Given the description of an element on the screen output the (x, y) to click on. 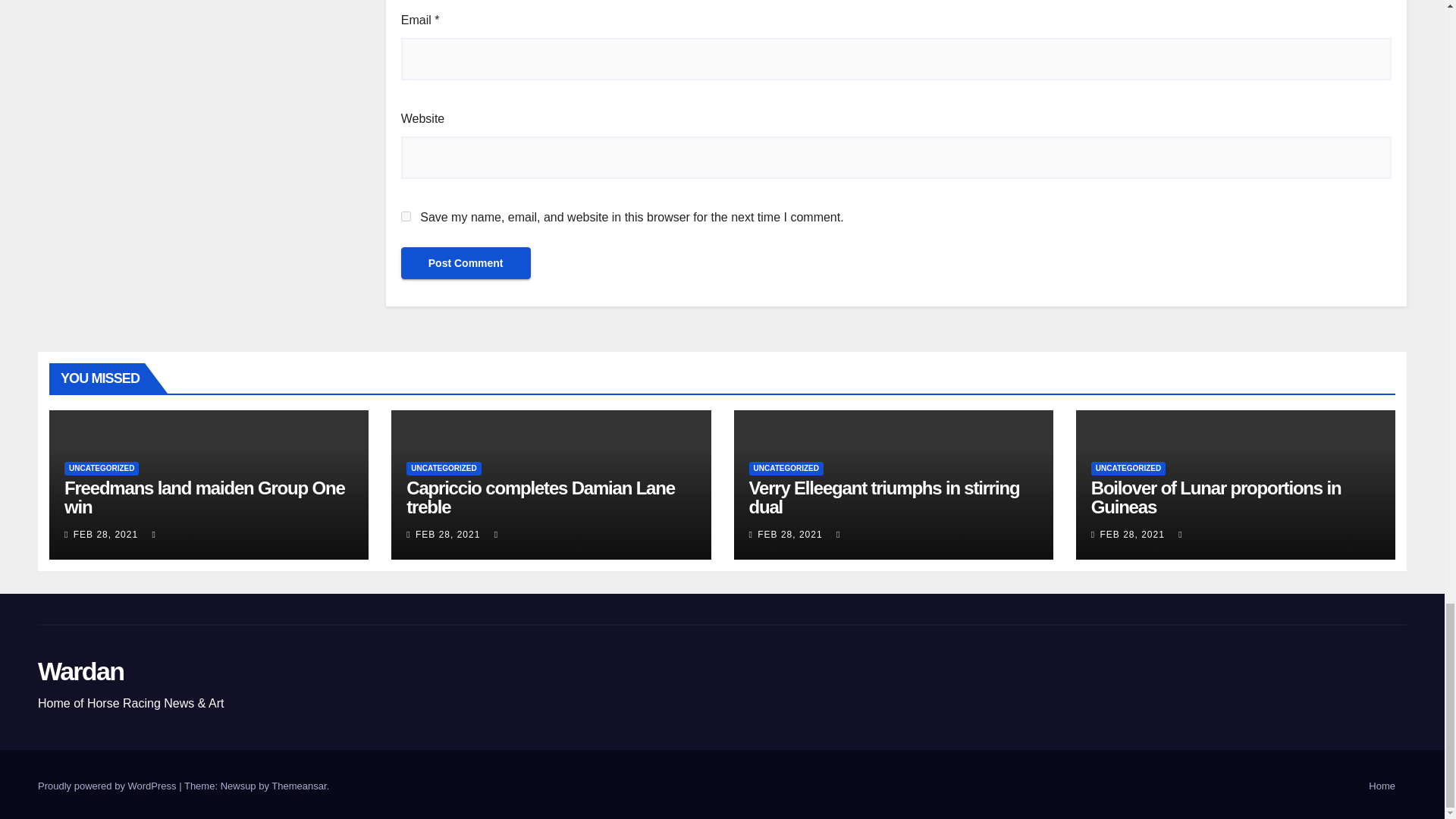
Post Comment (466, 263)
yes (405, 216)
Permalink to: Freedmans land maiden Group One win (204, 496)
FEB 28, 2021 (106, 534)
UNCATEGORIZED (101, 468)
UNCATEGORIZED (443, 468)
Post Comment (466, 263)
Permalink to: Verry Elleegant triumphs in stirring dual (884, 496)
Freedmans land maiden Group One win (204, 496)
Permalink to: Capriccio completes Damian Lane treble (540, 496)
